Given the description of an element on the screen output the (x, y) to click on. 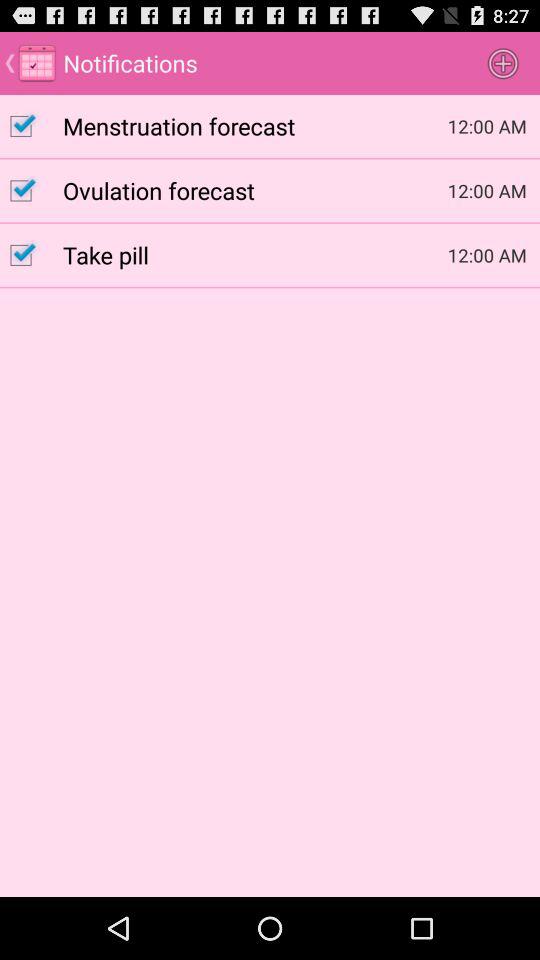
check/uncheck notification alert (31, 125)
